Given the description of an element on the screen output the (x, y) to click on. 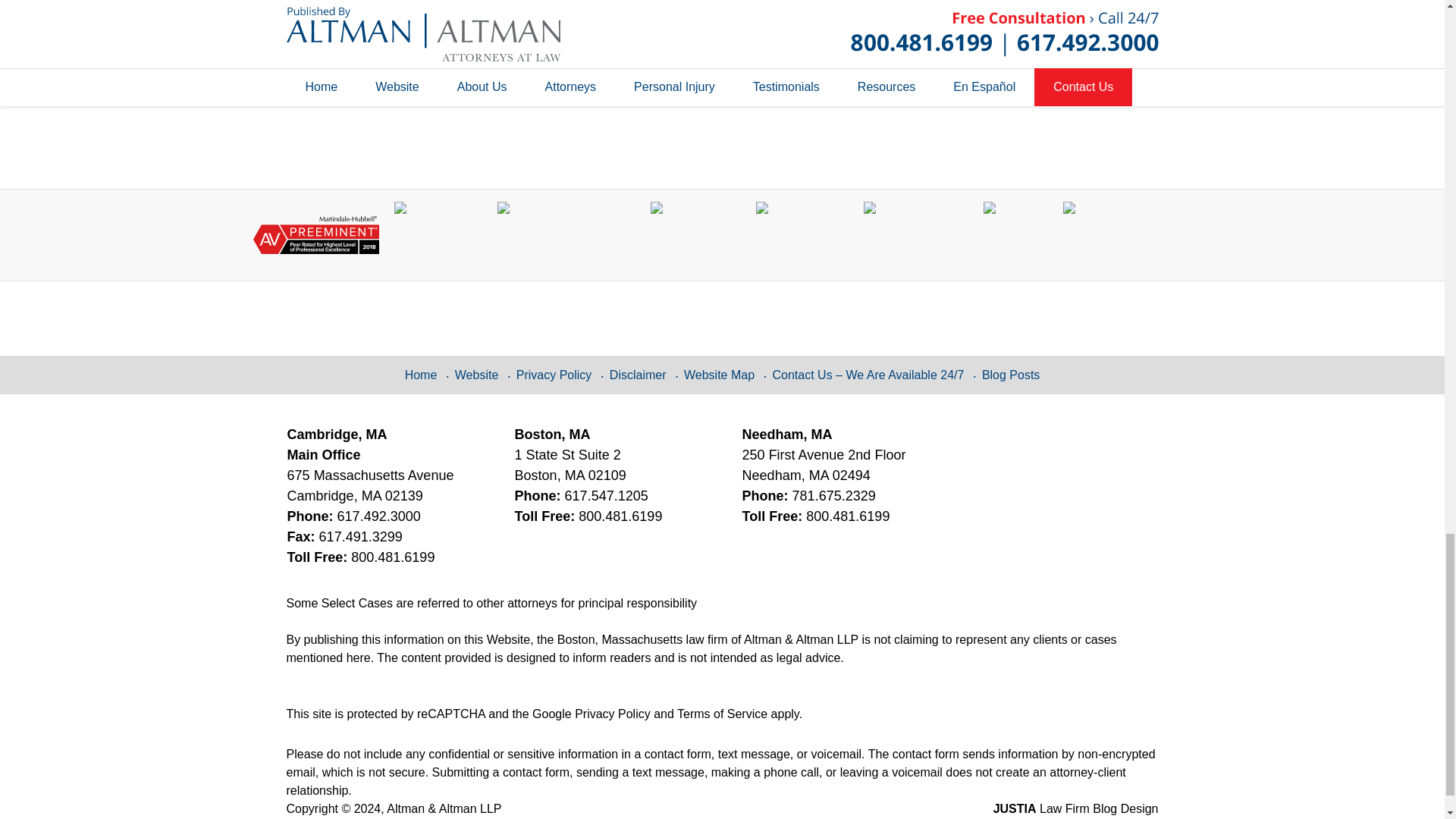
View all posts in Uncategorized (358, 27)
here (584, 9)
Home (372, 93)
Two Boys Suffer Severe Sunburns At Daycare Facility (316, 93)
Tent Collapse Leads To Two Fatalities at NH Circus (419, 93)
Uncategorized (358, 27)
